Given the description of an element on the screen output the (x, y) to click on. 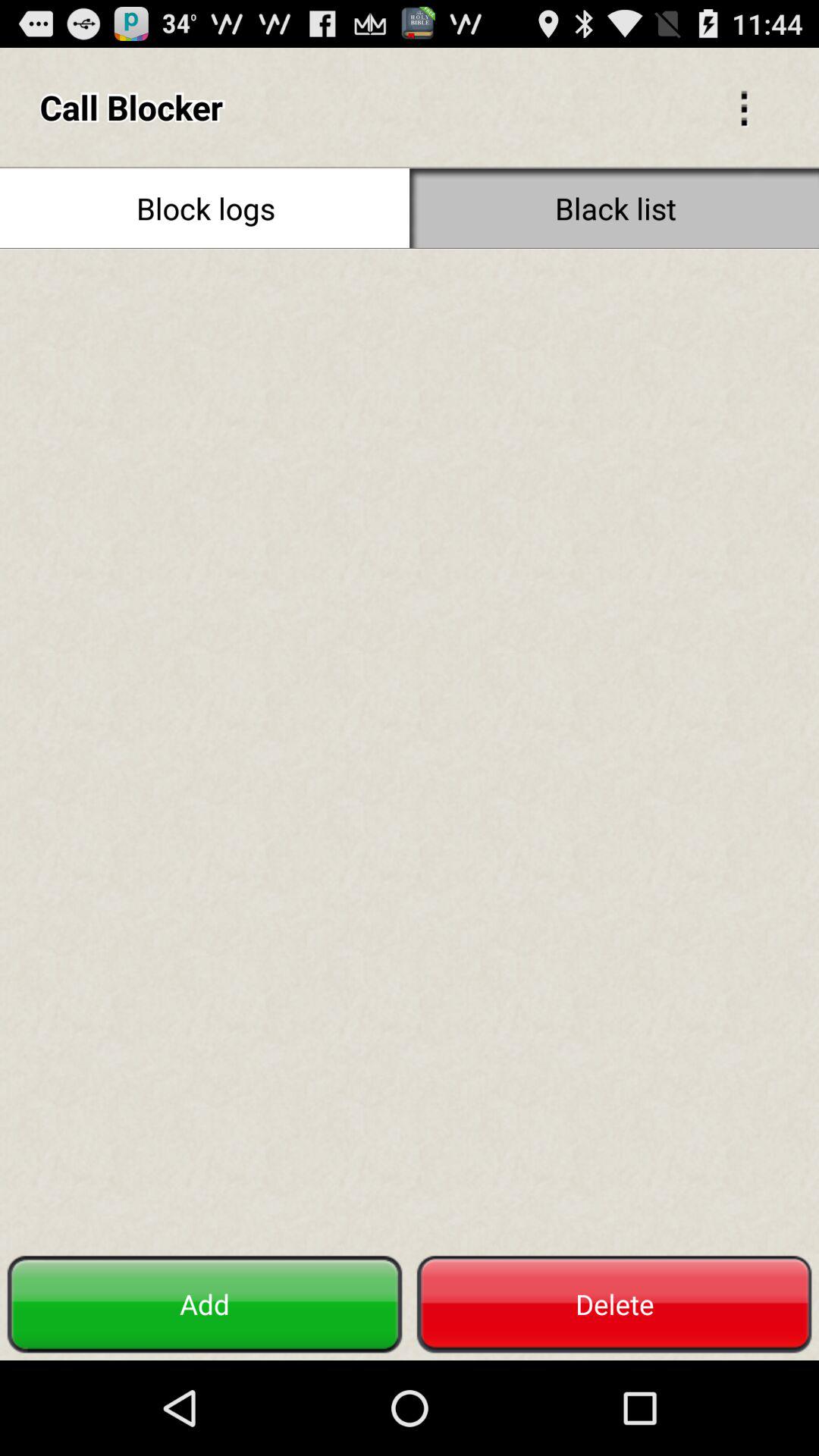
select the delete at the bottom right corner (613, 1304)
